Given the description of an element on the screen output the (x, y) to click on. 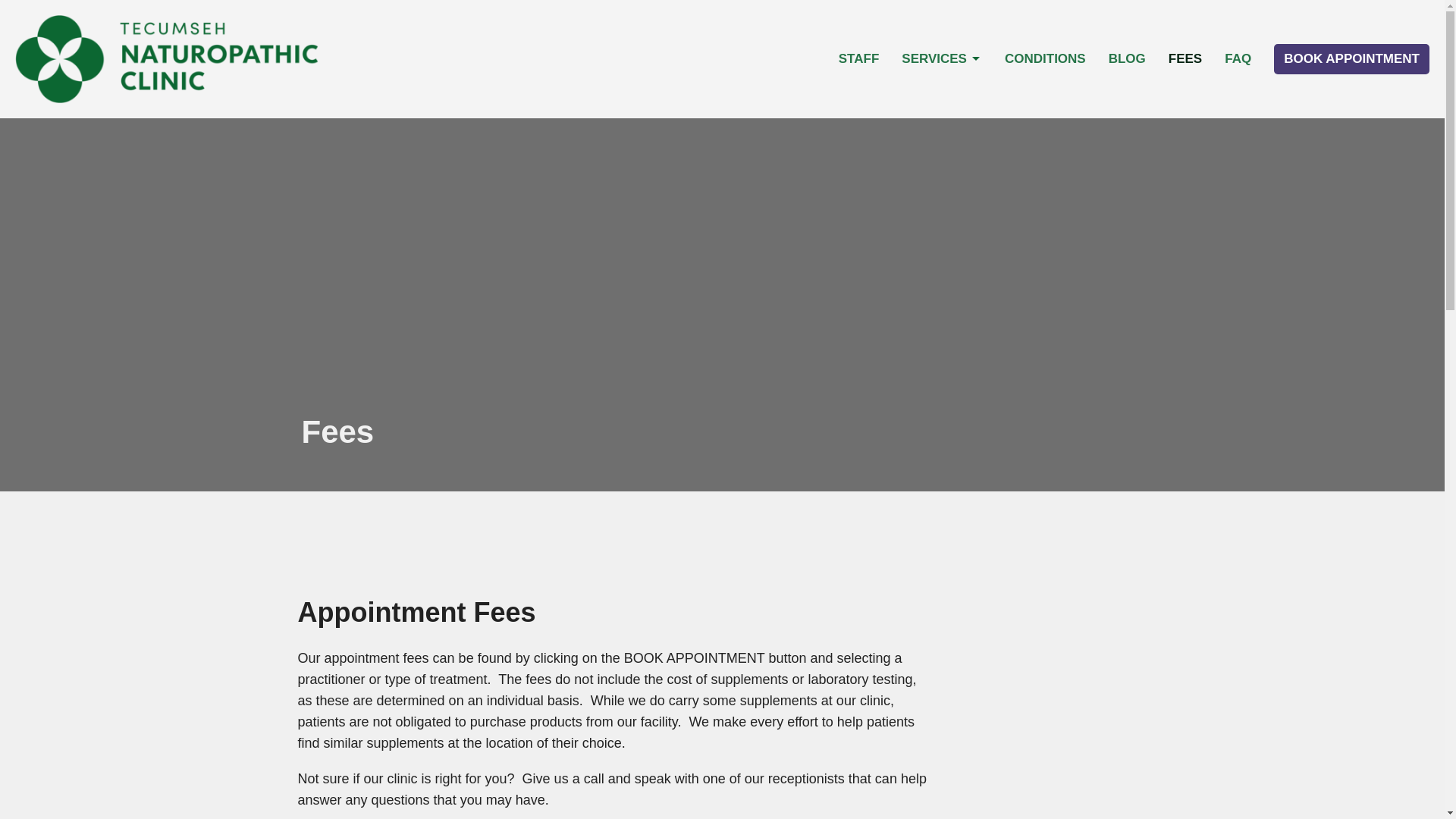
BLOG (1126, 58)
CONDITIONS (1045, 58)
FAQ (1237, 58)
BOOK APPOINTMENT (1351, 59)
FEES (1185, 58)
SERVICES (941, 58)
STAFF (858, 58)
